Given the description of an element on the screen output the (x, y) to click on. 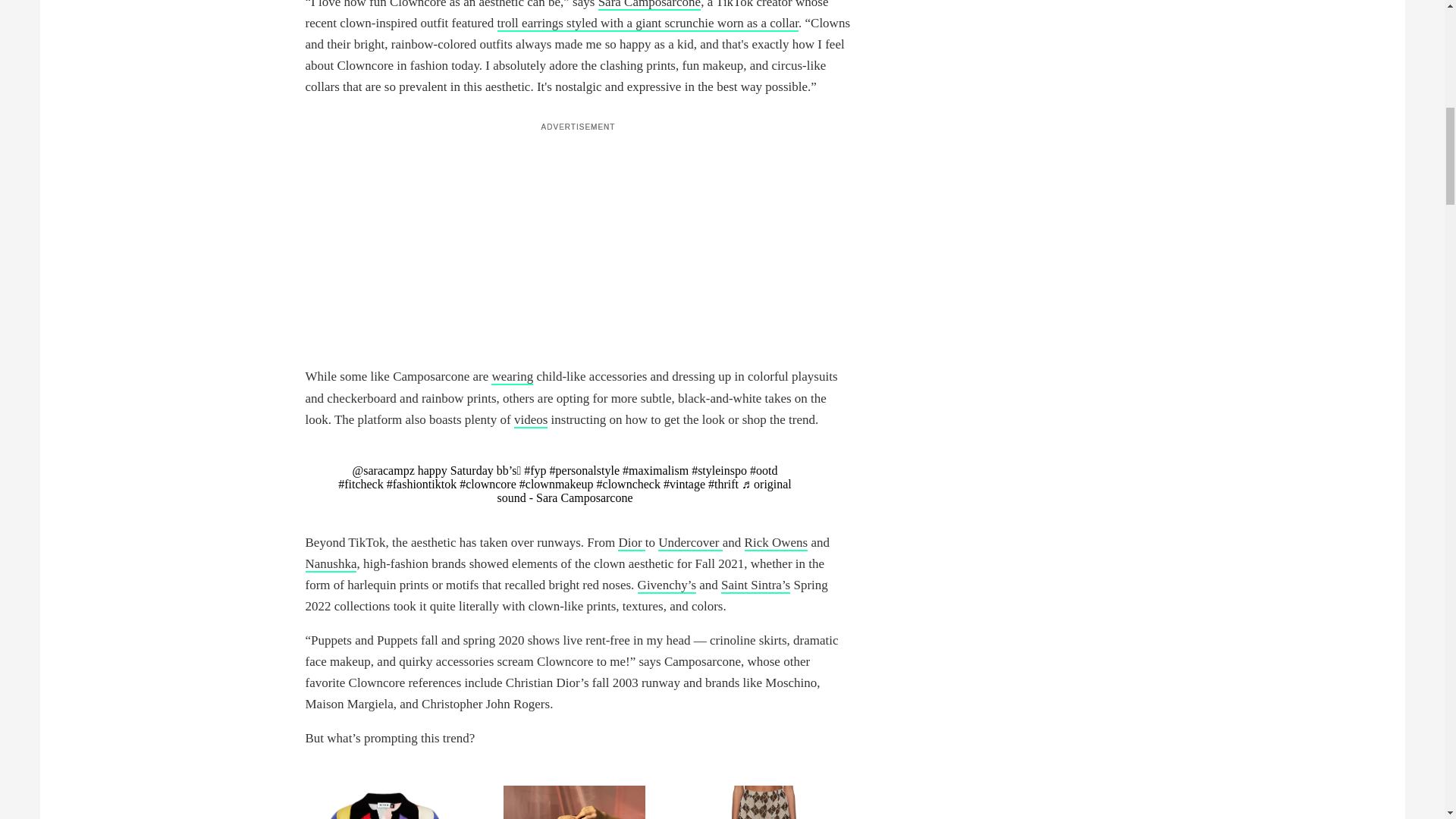
fashiontiktok (422, 483)
styleinspo (718, 470)
fitcheck (360, 483)
wearing (512, 376)
fyp (535, 470)
vintage (683, 483)
clowncheck (628, 483)
maximalism (655, 470)
clownmakeup (556, 483)
Sara Camposarcone (649, 5)
personalstyle (585, 470)
clowncore (488, 483)
videos (530, 420)
thrift (722, 483)
